Given the description of an element on the screen output the (x, y) to click on. 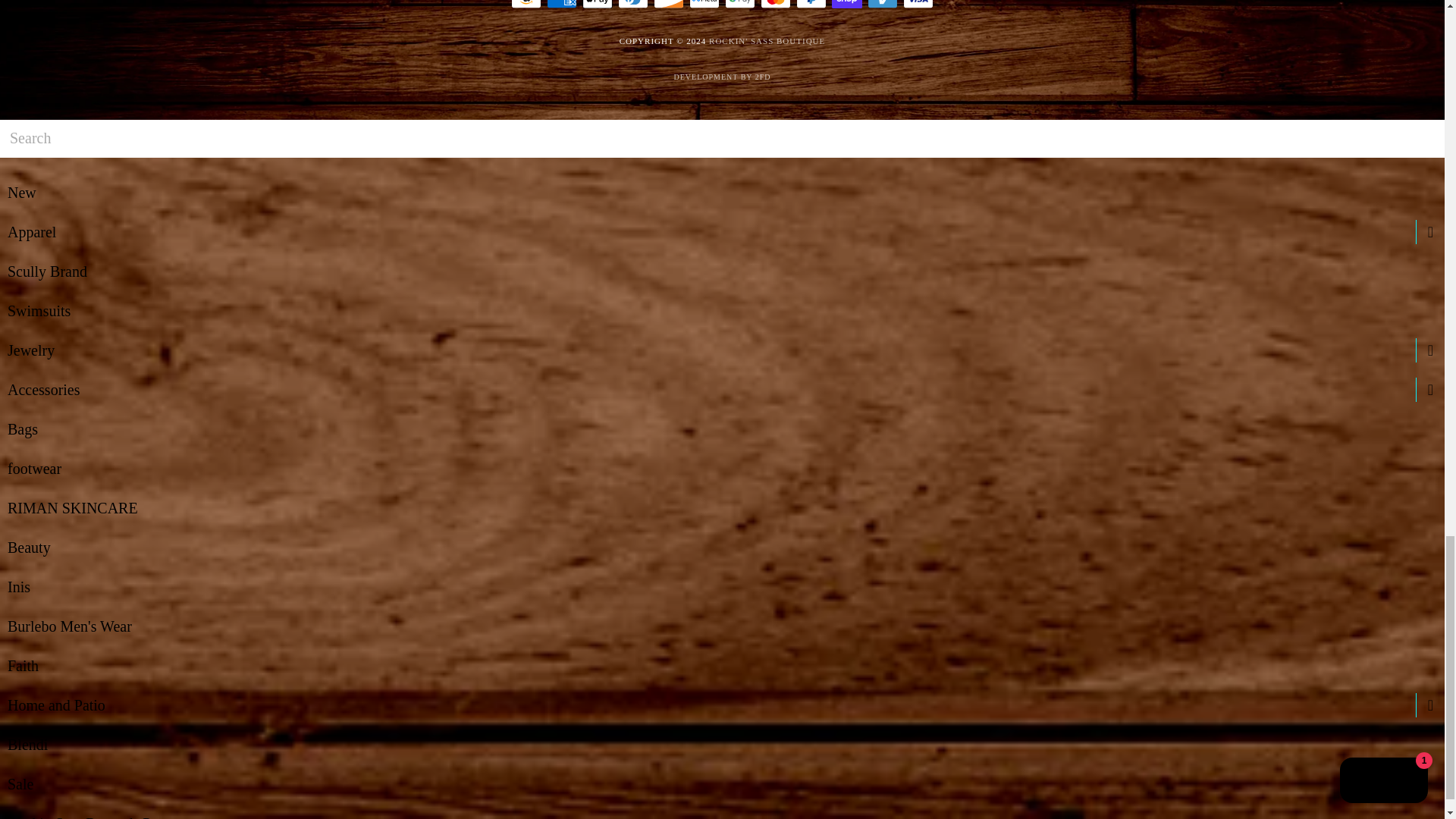
PayPal (811, 4)
Venmo (882, 4)
Apple Pay (597, 4)
American Express (561, 4)
Diners Club (632, 4)
Google Pay (740, 4)
Amazon (526, 4)
Shop Pay (846, 4)
Meta Pay (703, 4)
Discover (668, 4)
Visa (917, 4)
Mastercard (775, 4)
